Given the description of an element on the screen output the (x, y) to click on. 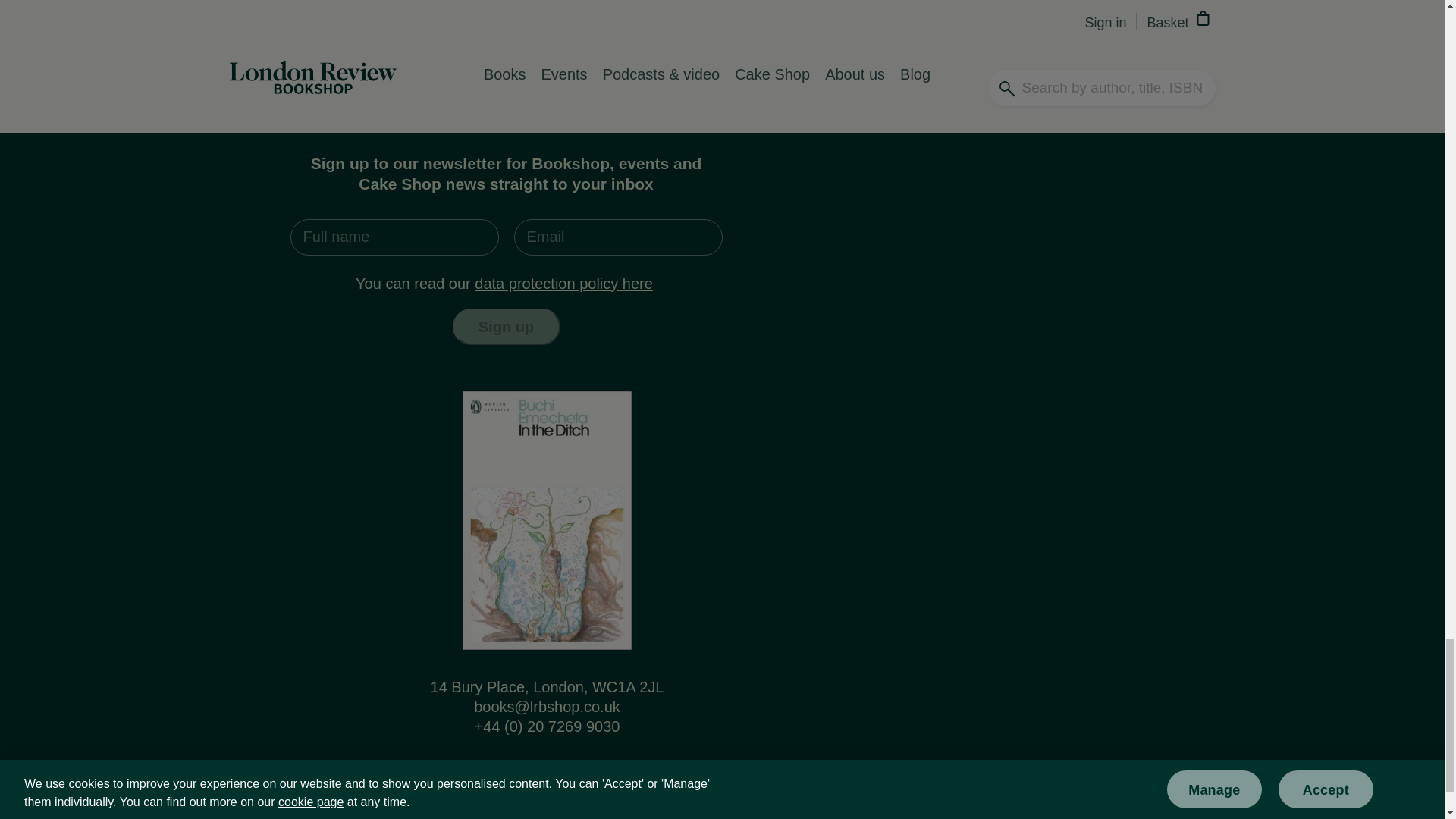
Follow us on Facebook (489, 774)
Follow us on Instagram (600, 774)
Read our data protection policy (563, 283)
data protection policy here (563, 283)
Place your order (721, 50)
Follow us on Twitter (524, 774)
Email us (547, 706)
Sign up (505, 326)
Call us (547, 726)
Follow us on YouTube (562, 774)
